Given the description of an element on the screen output the (x, y) to click on. 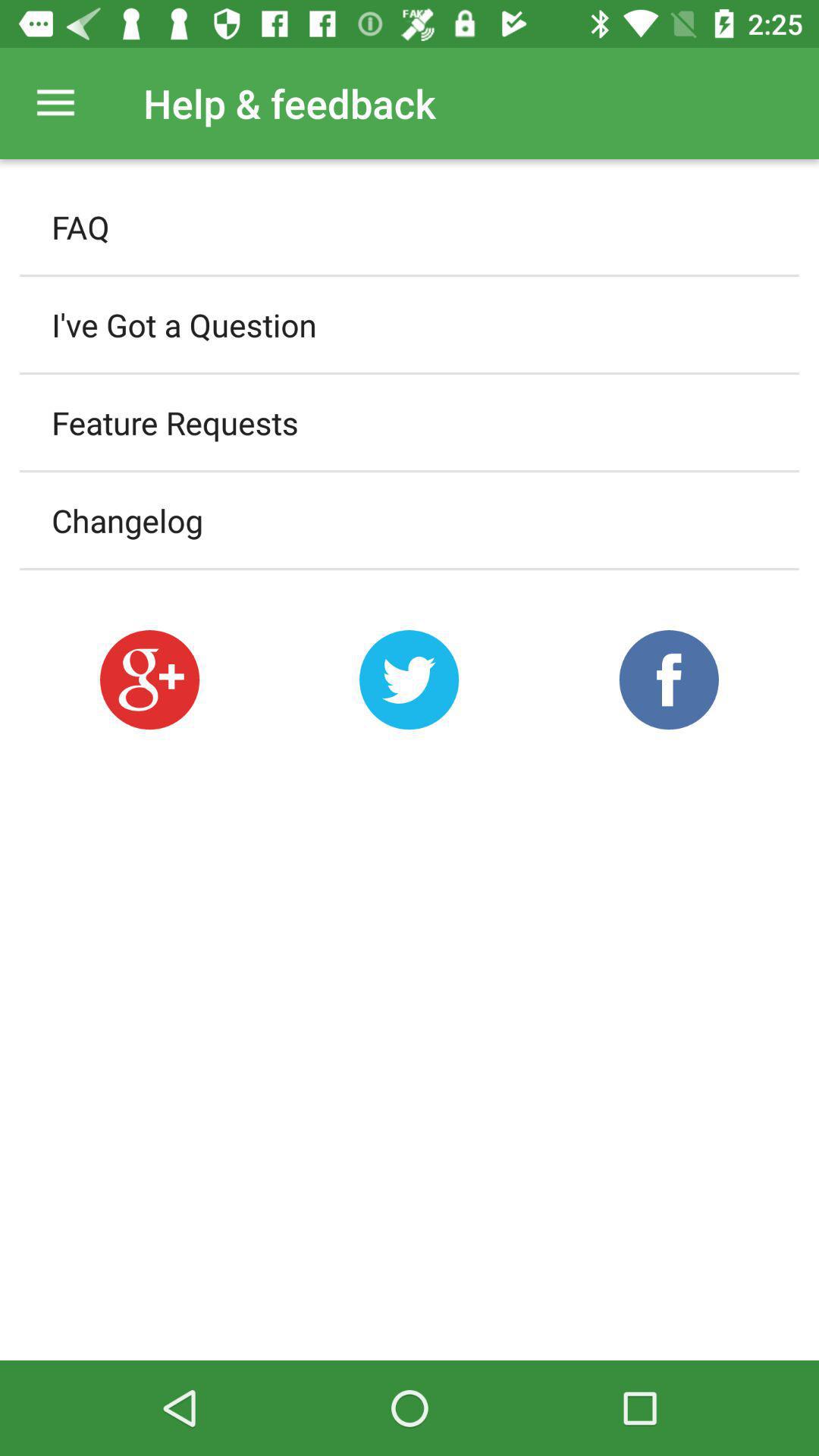
go to the google plus social media (149, 679)
